Given the description of an element on the screen output the (x, y) to click on. 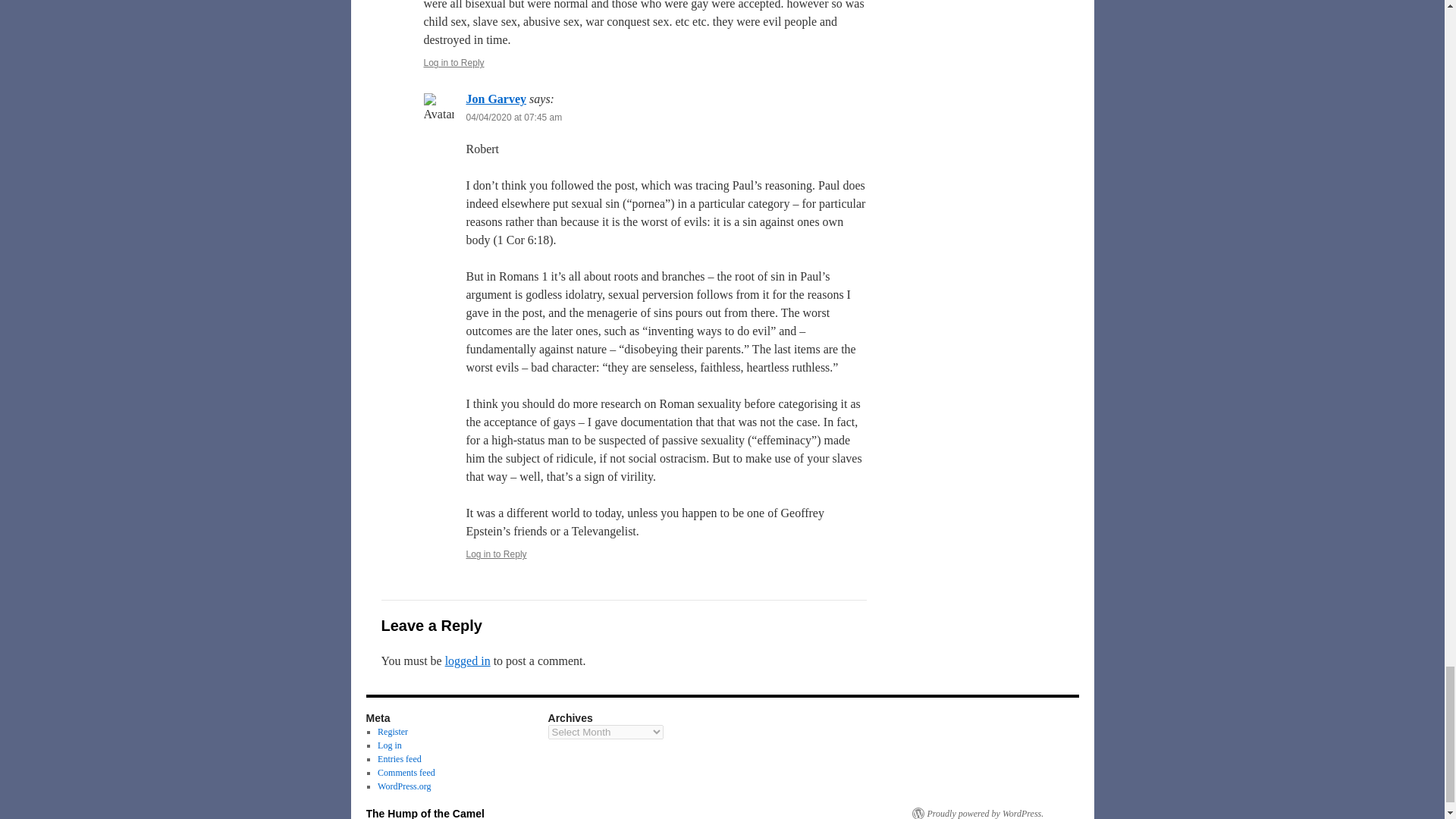
Log in to Reply (453, 62)
Jon Garvey (495, 98)
logged in (467, 660)
Log in to Reply (495, 553)
